Given the description of an element on the screen output the (x, y) to click on. 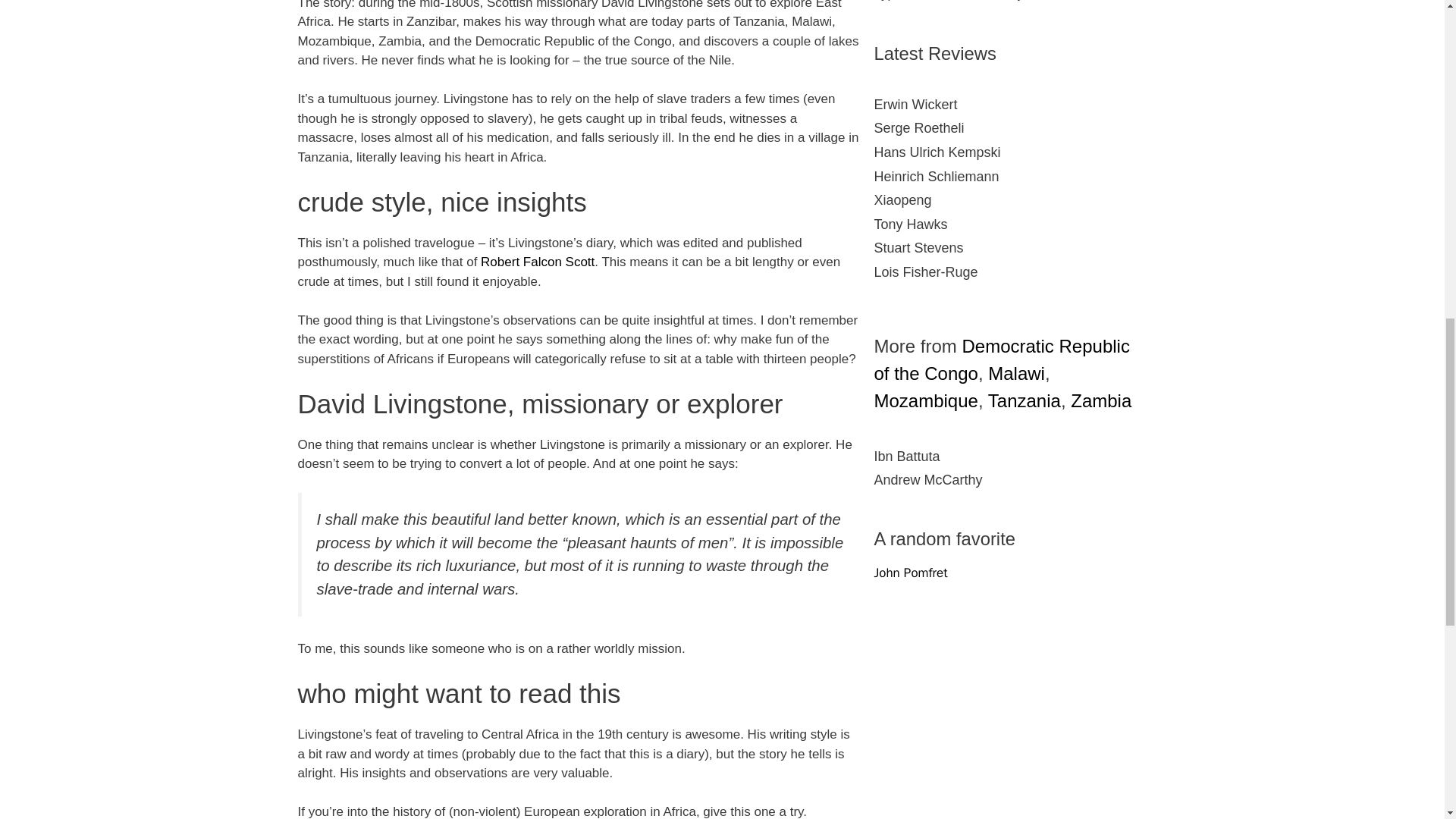
Hans Ulrich Kempski (1010, 152)
Andrew McCarthy (1010, 480)
Tony Hawks (1010, 225)
Erwin Wickert (1010, 105)
Robert Falcon Scott (537, 261)
Stuart Stevens (1010, 248)
Serge Roetheli (1010, 128)
Ibn Battuta (1010, 457)
Heinrich Schliemann (1010, 176)
Lois Fisher-Ruge (1010, 272)
Xiaopeng (1010, 200)
